Given the description of an element on the screen output the (x, y) to click on. 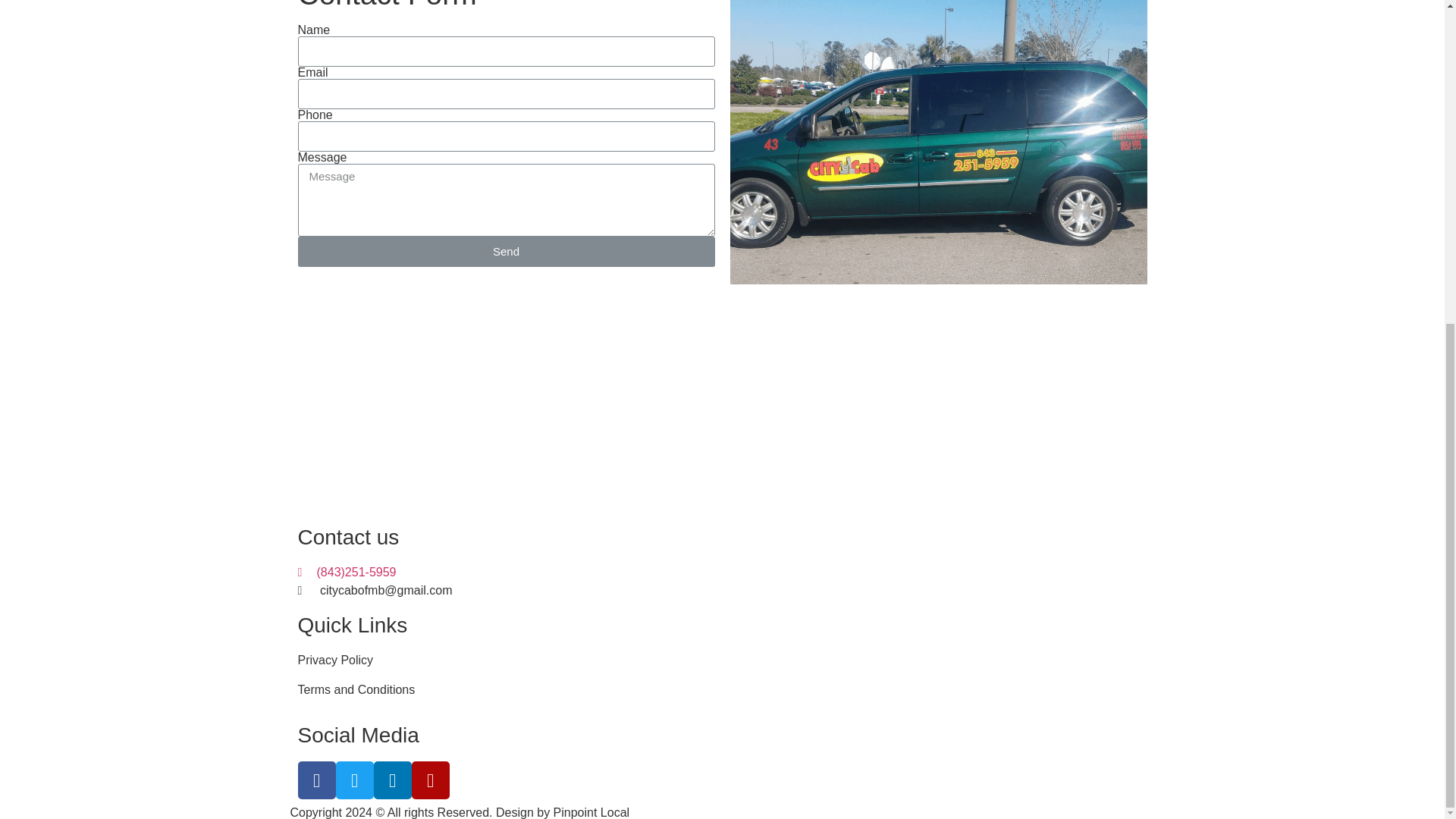
Myrtle Beach, SC (938, 640)
Send (505, 251)
